Given the description of an element on the screen output the (x, y) to click on. 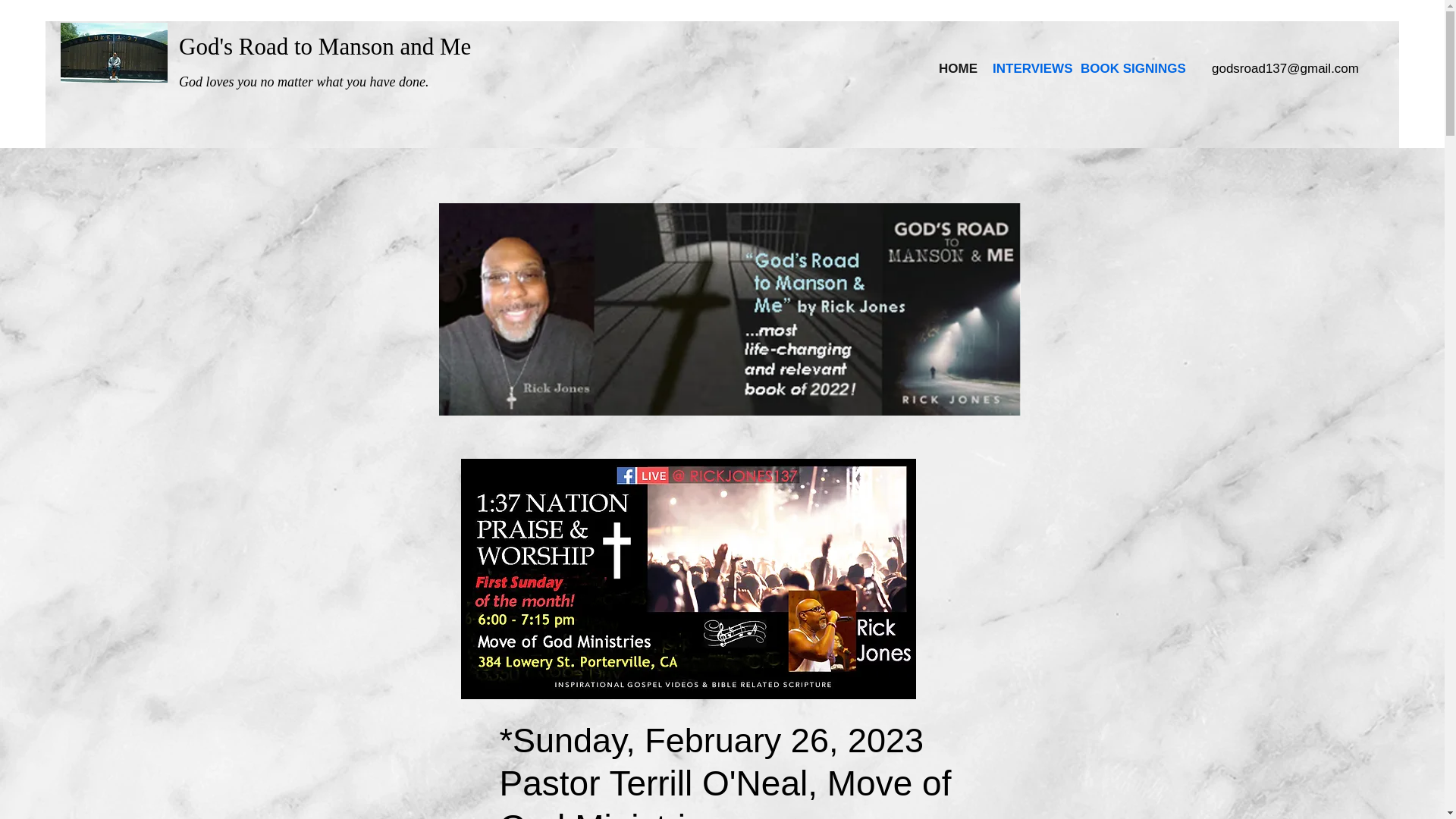
INTERVIEWS (1029, 68)
HOME (958, 68)
BOOK SIGNINGS (1130, 68)
God's Road to Manson and Me (324, 46)
website final banne 2022r.jpg (729, 309)
